Given the description of an element on the screen output the (x, y) to click on. 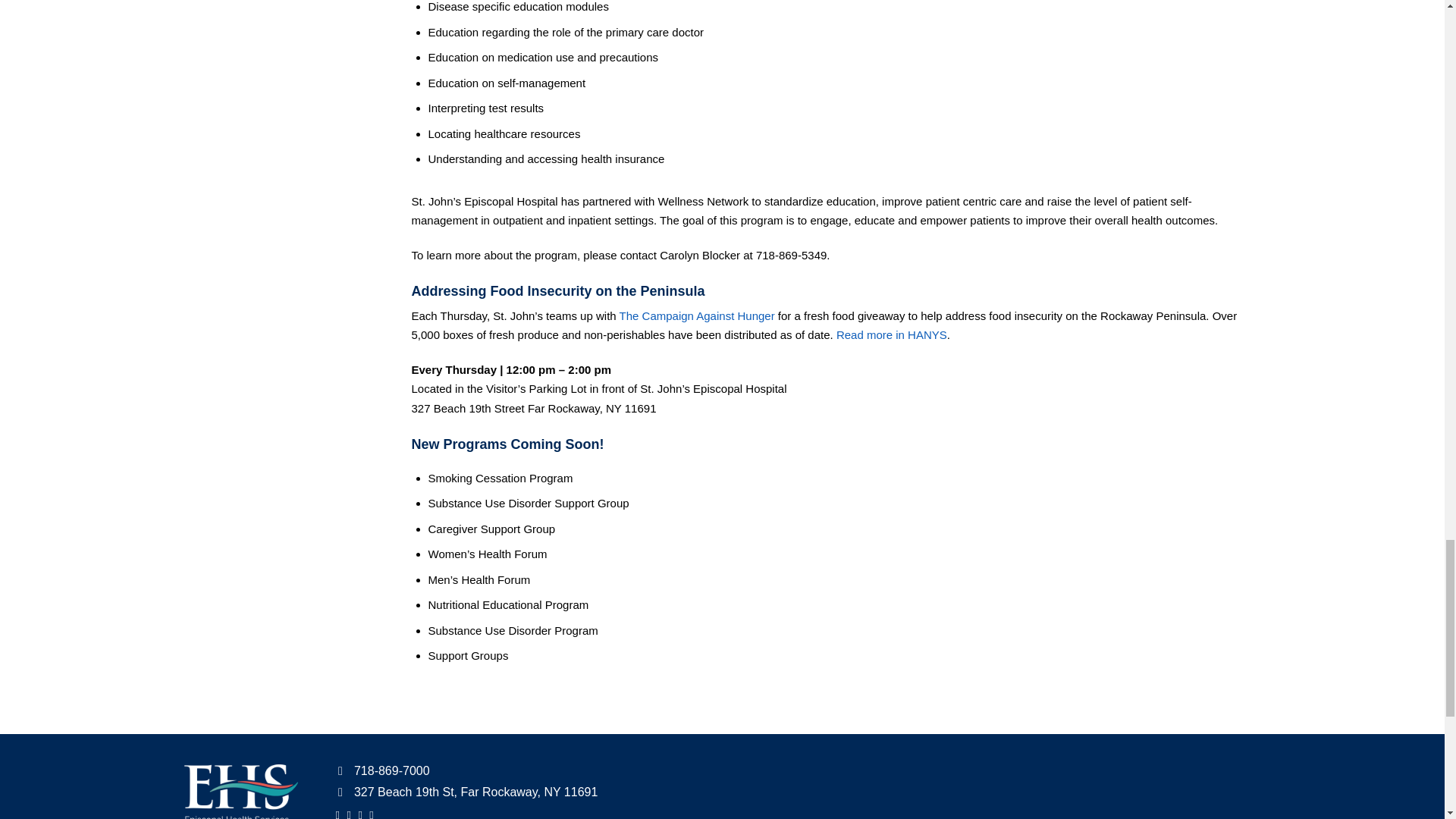
The Campaign Against Hunger (697, 315)
Back to ehs.org homepage (240, 791)
Read more in HANYS (891, 334)
